Given the description of an element on the screen output the (x, y) to click on. 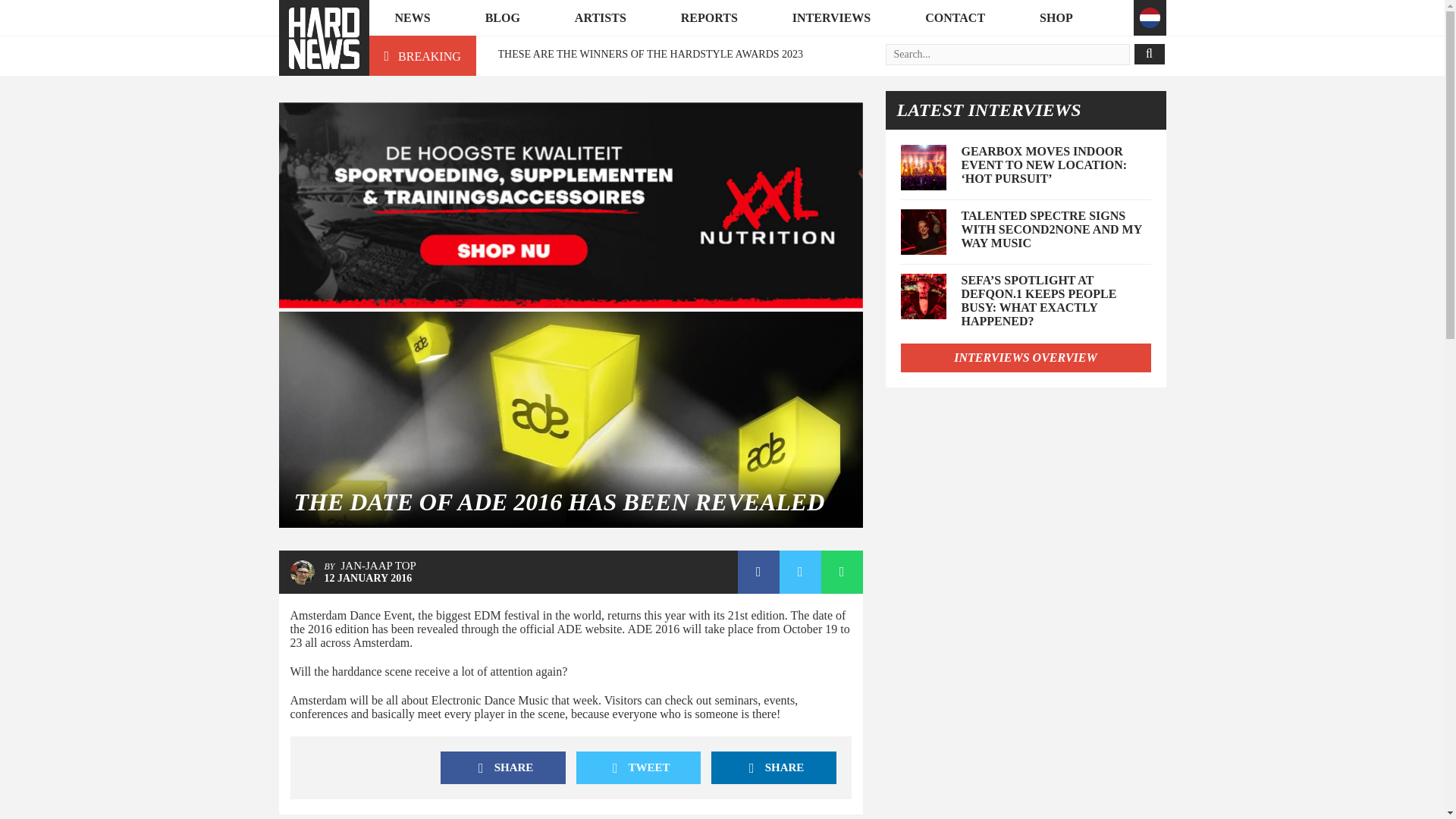
INTERVIEWS OVERVIEW (1026, 357)
REPORTS (708, 18)
CONTACT (954, 18)
ARTISTS (600, 18)
SHOP (1056, 18)
SHARE (773, 767)
TWEET (638, 767)
NEWS (411, 18)
THESE ARE THE WINNERS OF THE HARDSTYLE AWARDS 2023 (650, 53)
BLOG (503, 18)
